Given the description of an element on the screen output the (x, y) to click on. 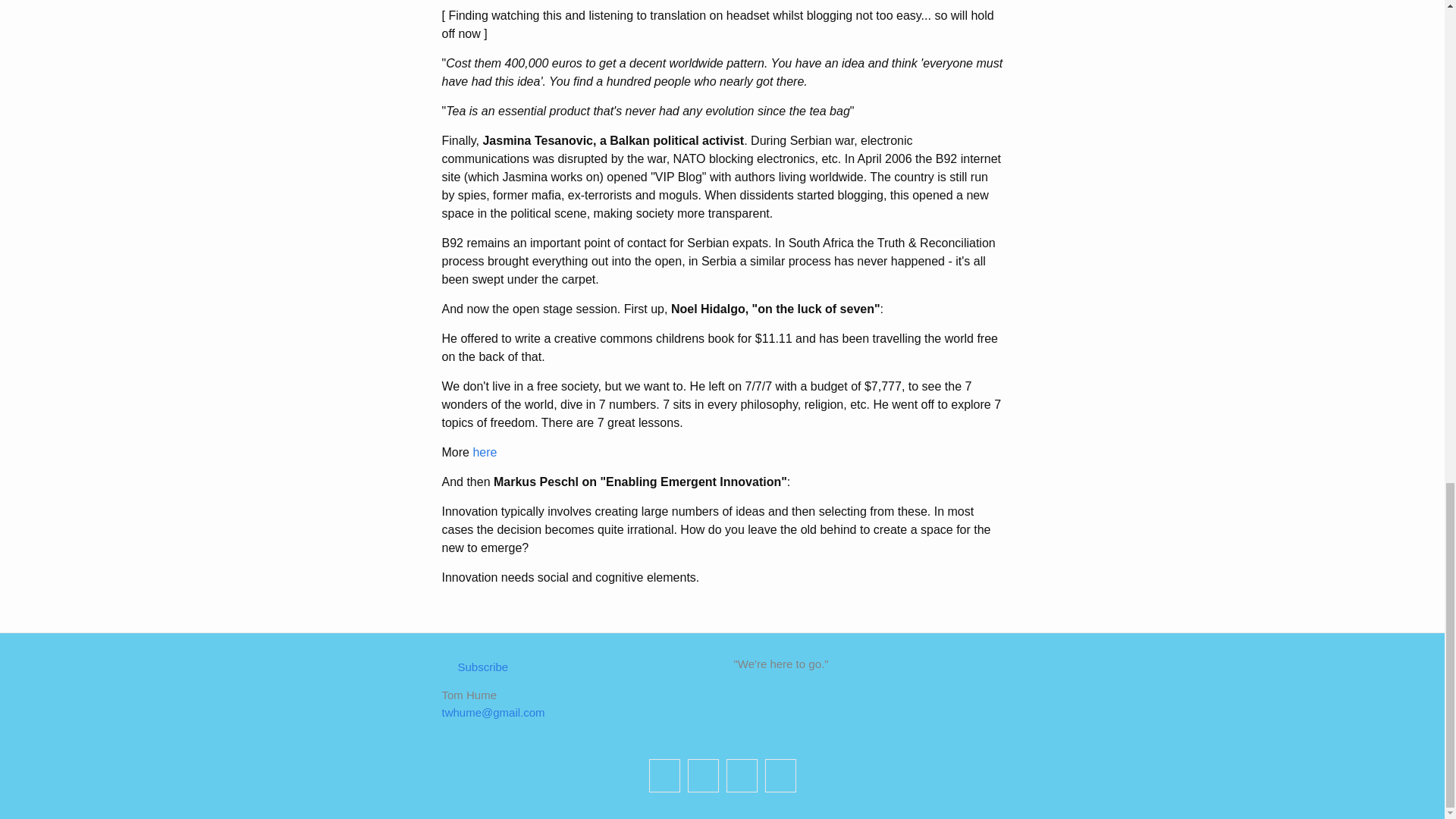
Subscribe (474, 666)
twhume (664, 775)
twhume (741, 775)
here (483, 451)
twhume (779, 775)
